Given the description of an element on the screen output the (x, y) to click on. 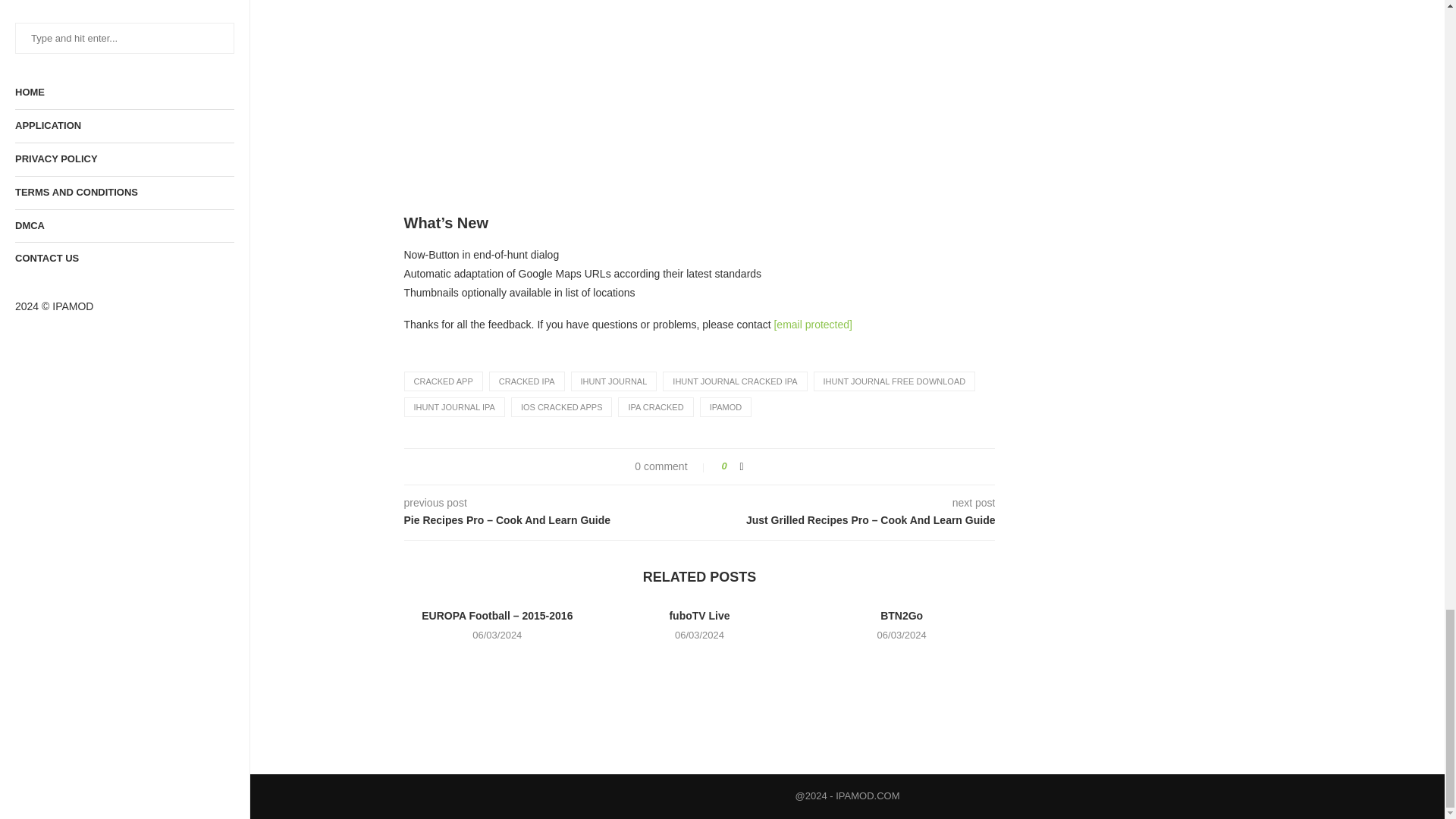
IOS CRACKED APPS (561, 406)
IHUNT JOURNAL IPA (453, 406)
IHUNT JOURNAL FREE DOWNLOAD (894, 381)
IHUNT JOURNAL (614, 381)
CRACKED APP (442, 381)
IPAMOD (726, 406)
CRACKED IPA (526, 381)
IHUNT JOURNAL CRACKED IPA (734, 381)
iHunt Journal Screenshots (516, 49)
IPA CRACKED (655, 406)
